Given the description of an element on the screen output the (x, y) to click on. 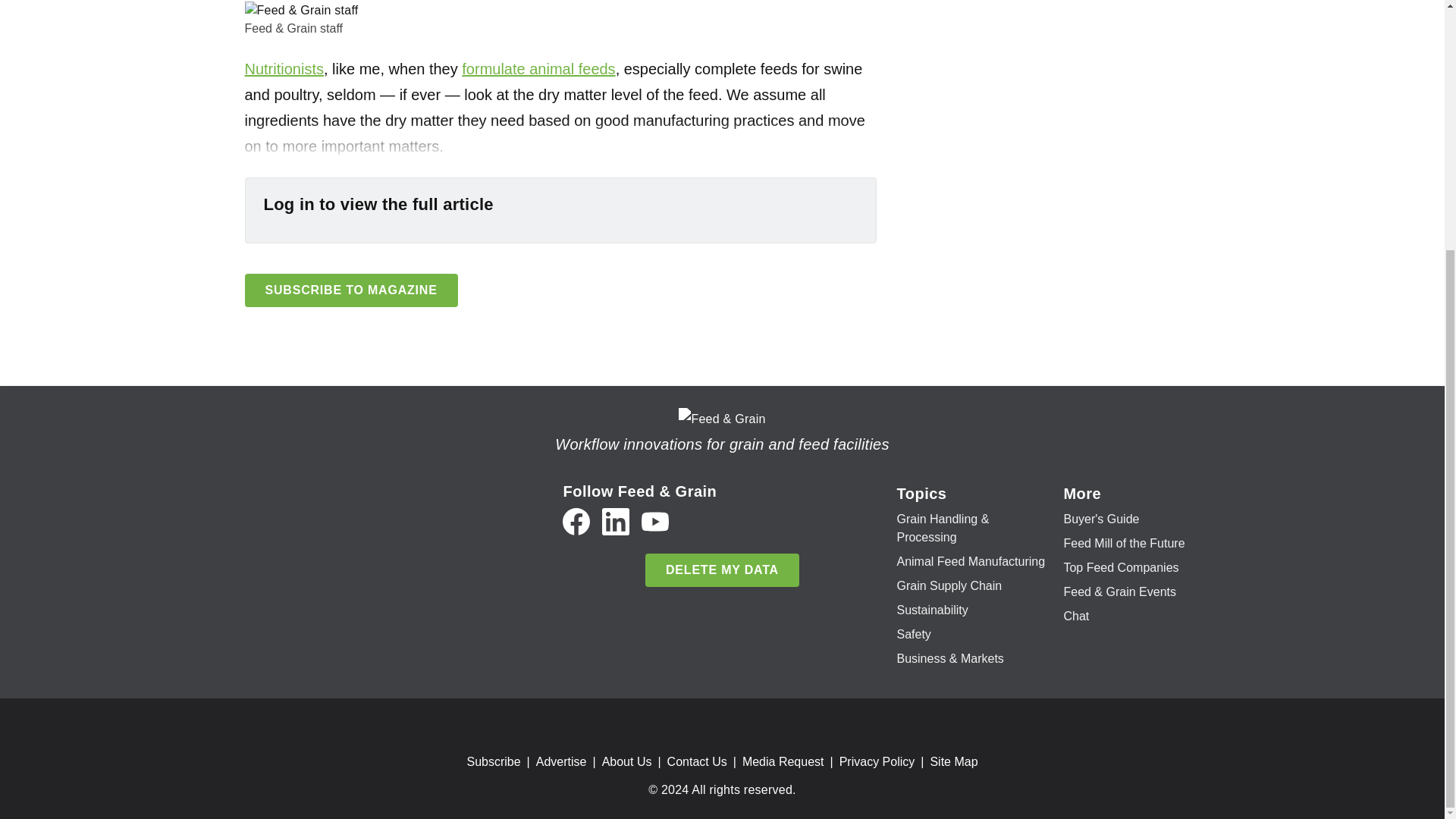
Visit us on Facebook (575, 521)
Visit us on Linkedin (615, 521)
Visit us on Youtube (655, 521)
YouTube icon (655, 521)
Facebook icon (575, 521)
LinkedIn icon (615, 521)
